Given the description of an element on the screen output the (x, y) to click on. 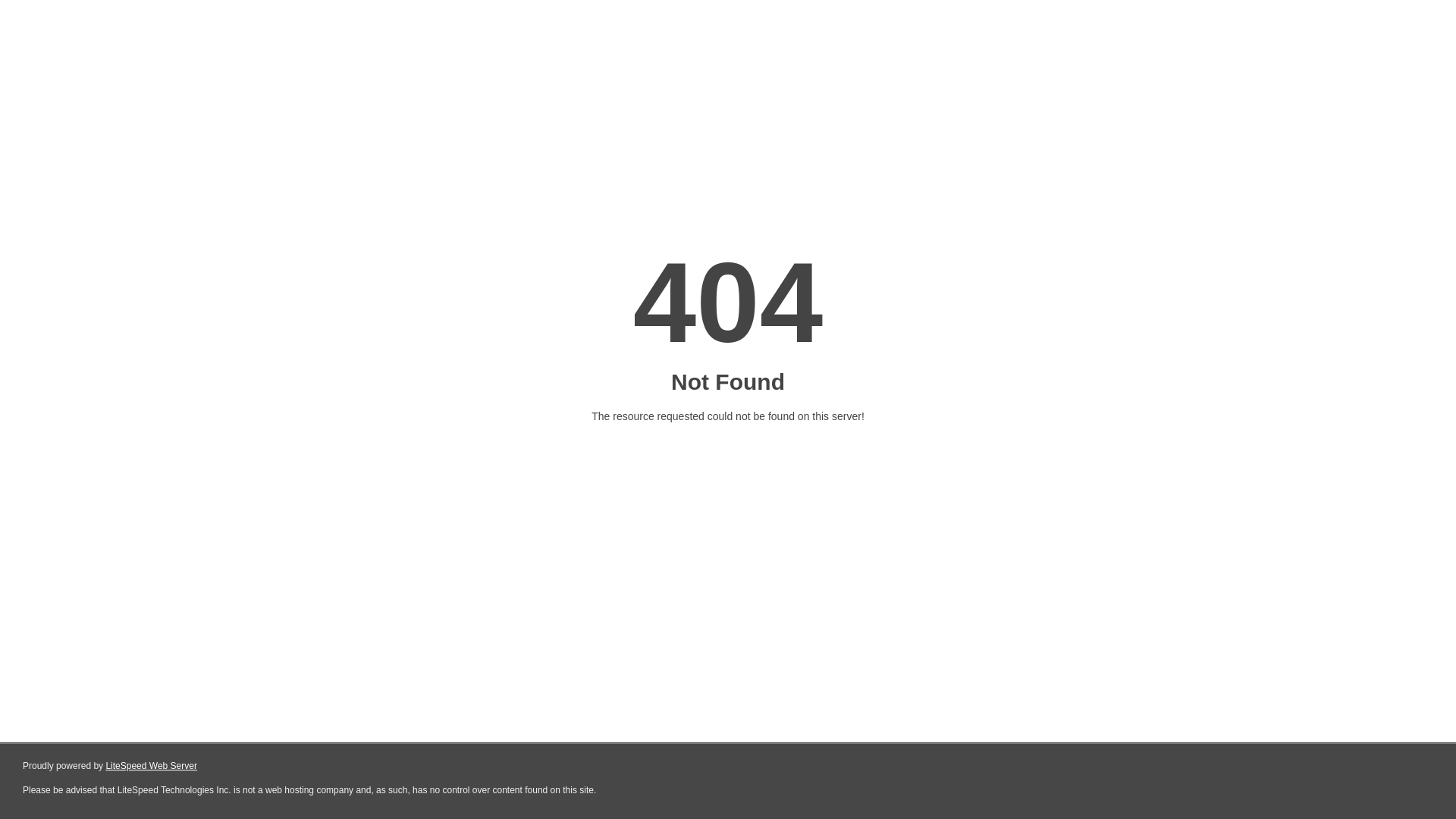
LiteSpeed Web Server Element type: text (151, 765)
